Given the description of an element on the screen output the (x, y) to click on. 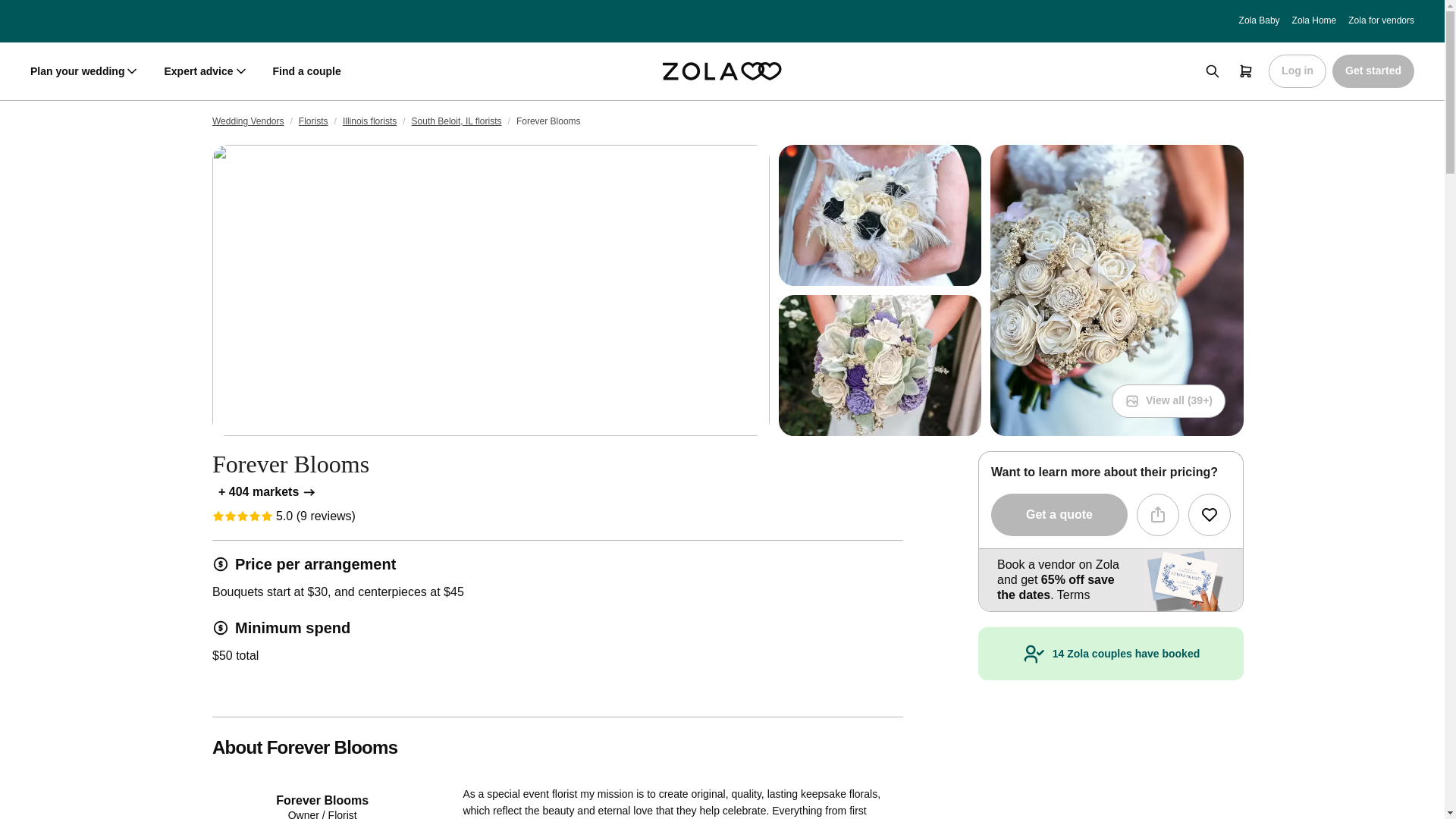
Wedding Vendors (247, 121)
Plan your wedding (84, 70)
Expert advice (205, 70)
Favorite this vendor (1209, 514)
Log in (1297, 70)
Zola for vendors (1380, 20)
Zola Home (1314, 20)
Get started (1372, 70)
Share this vendor with somebody else (1158, 514)
Find a couple (306, 70)
Zola Baby (1259, 20)
